Given the description of an element on the screen output the (x, y) to click on. 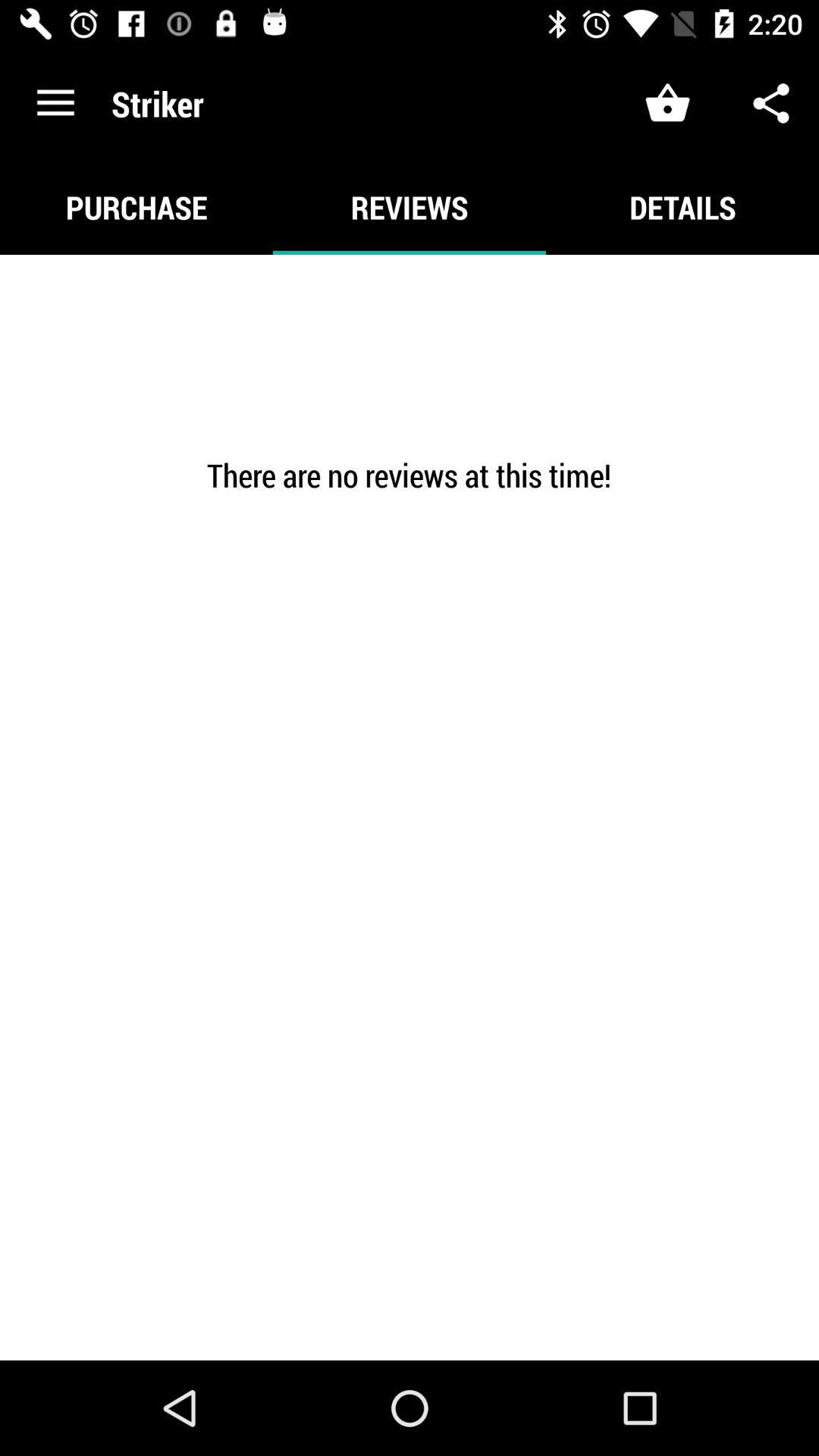
tap the icon to the left of the striker item (55, 103)
